Given the description of an element on the screen output the (x, y) to click on. 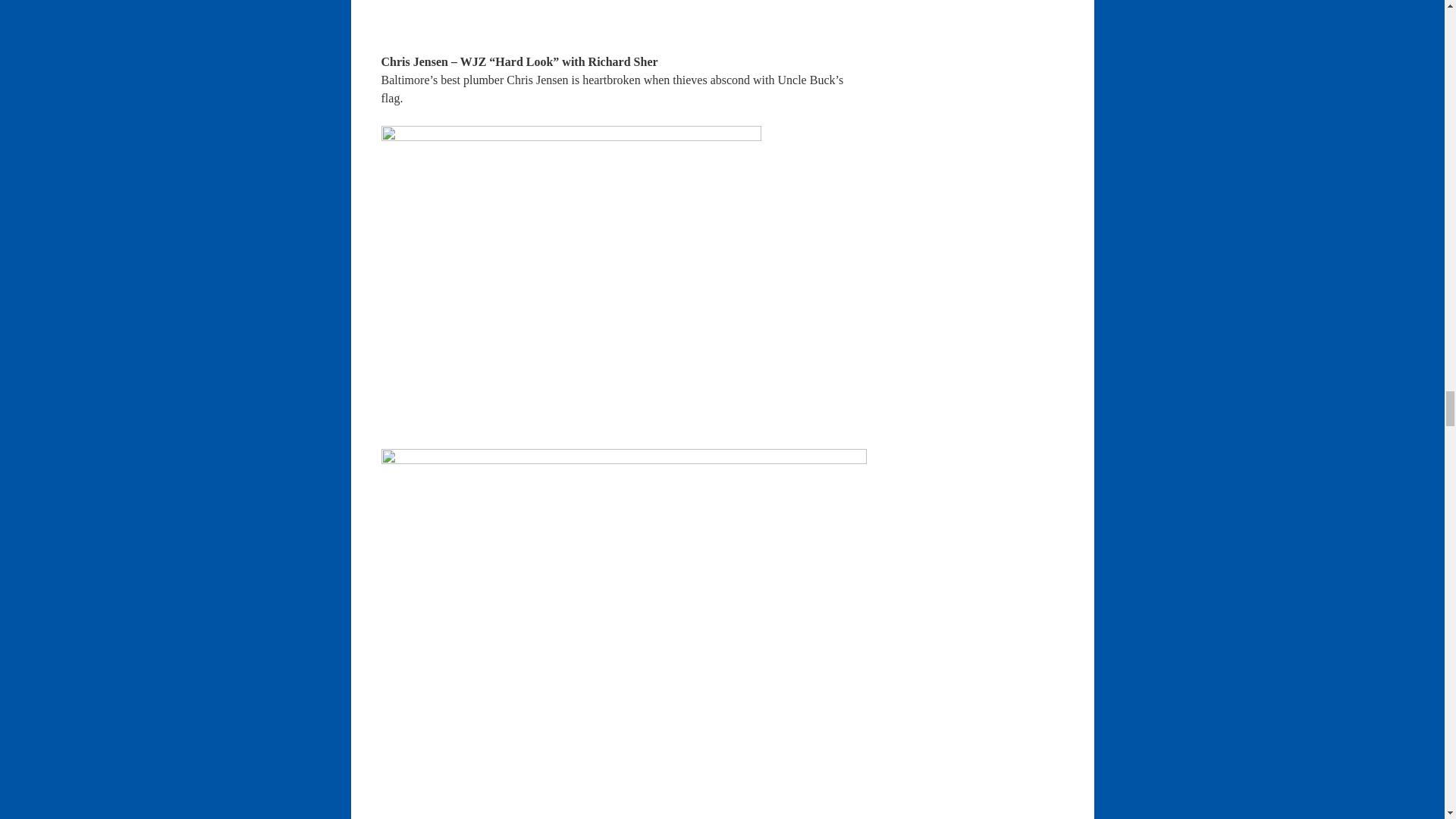
YouTube video player (592, 23)
